Given the description of an element on the screen output the (x, y) to click on. 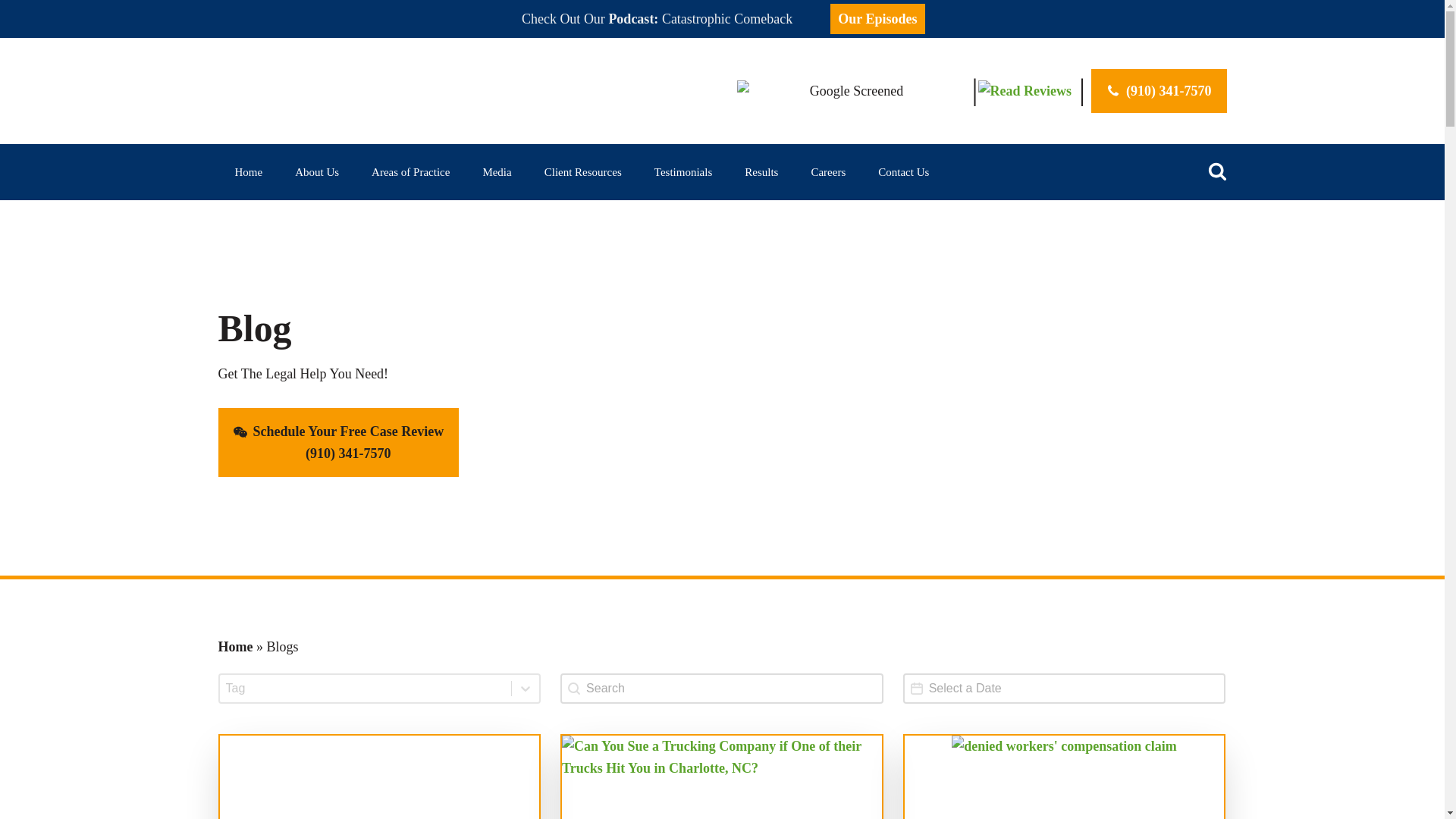
Areas of Practice (409, 171)
Our Episodes (877, 18)
About Us (316, 171)
